Given the description of an element on the screen output the (x, y) to click on. 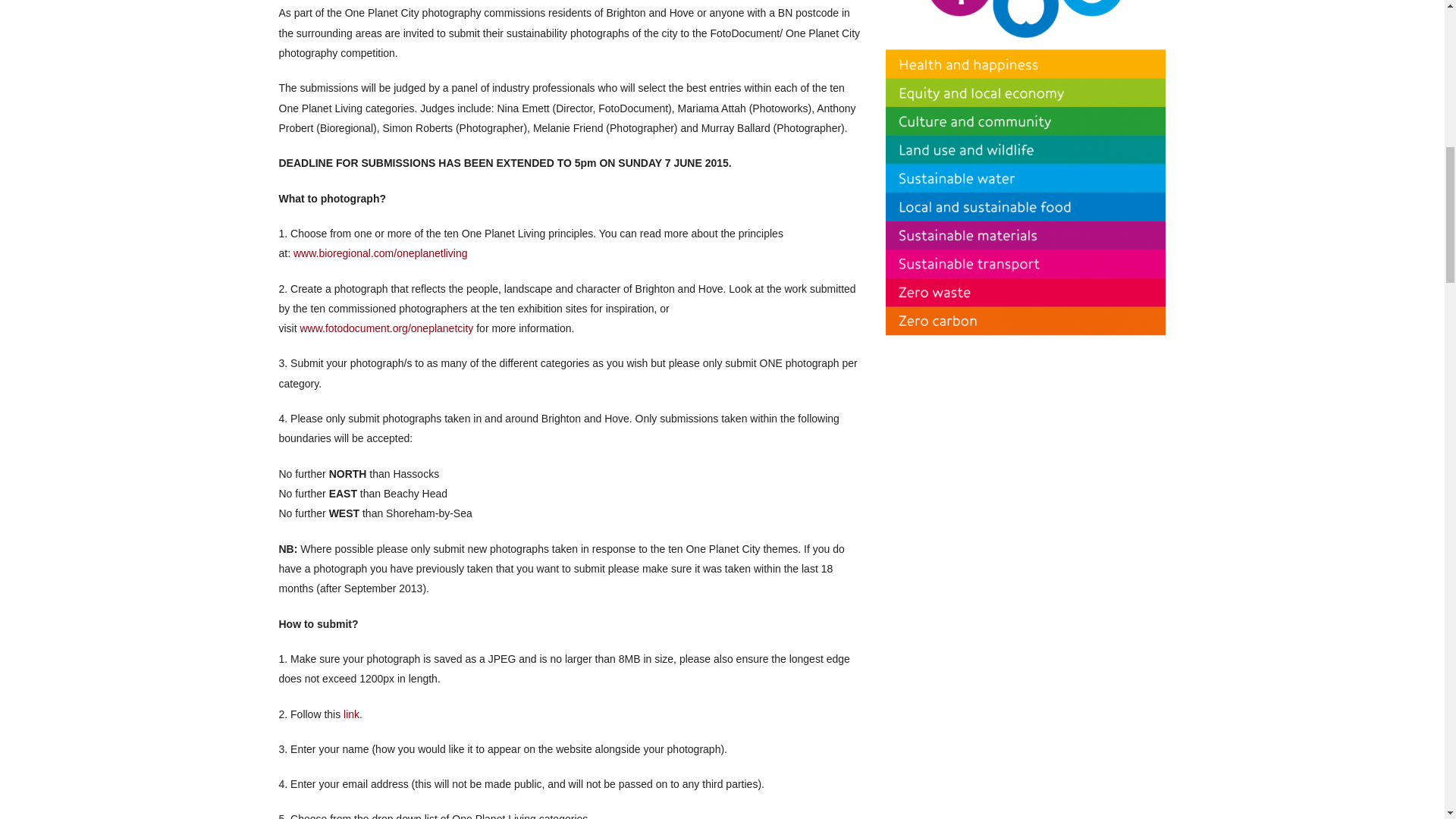
link (351, 714)
